Given the description of an element on the screen output the (x, y) to click on. 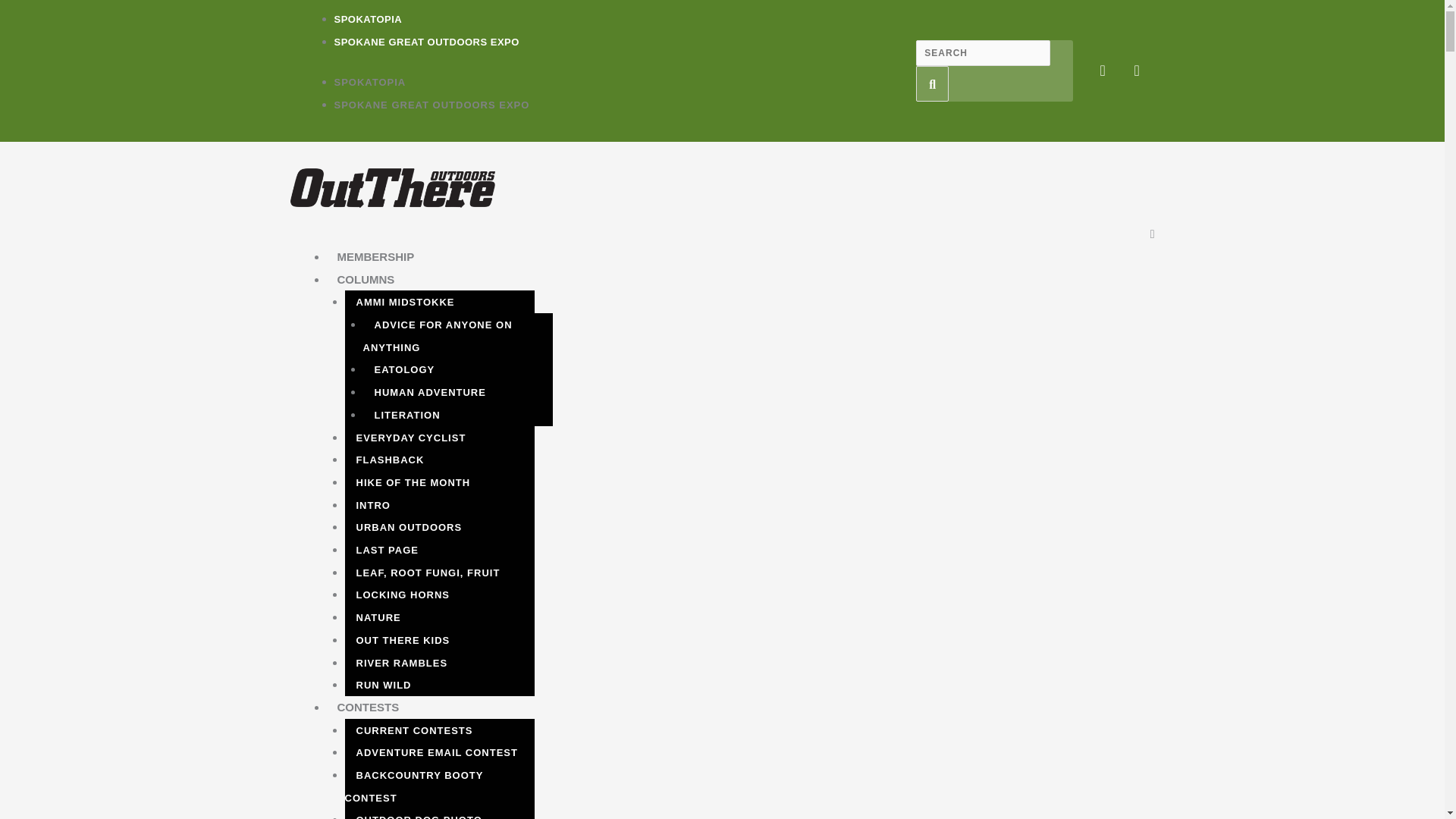
SPOKATOPIA (367, 19)
SPOKANE GREAT OUTDOORS EXPO (431, 104)
SPOKANE GREAT OUTDOORS EXPO (425, 41)
Instagram (1136, 70)
Search (932, 84)
Facebook (1101, 70)
SPOKATOPIA (369, 81)
